Given the description of an element on the screen output the (x, y) to click on. 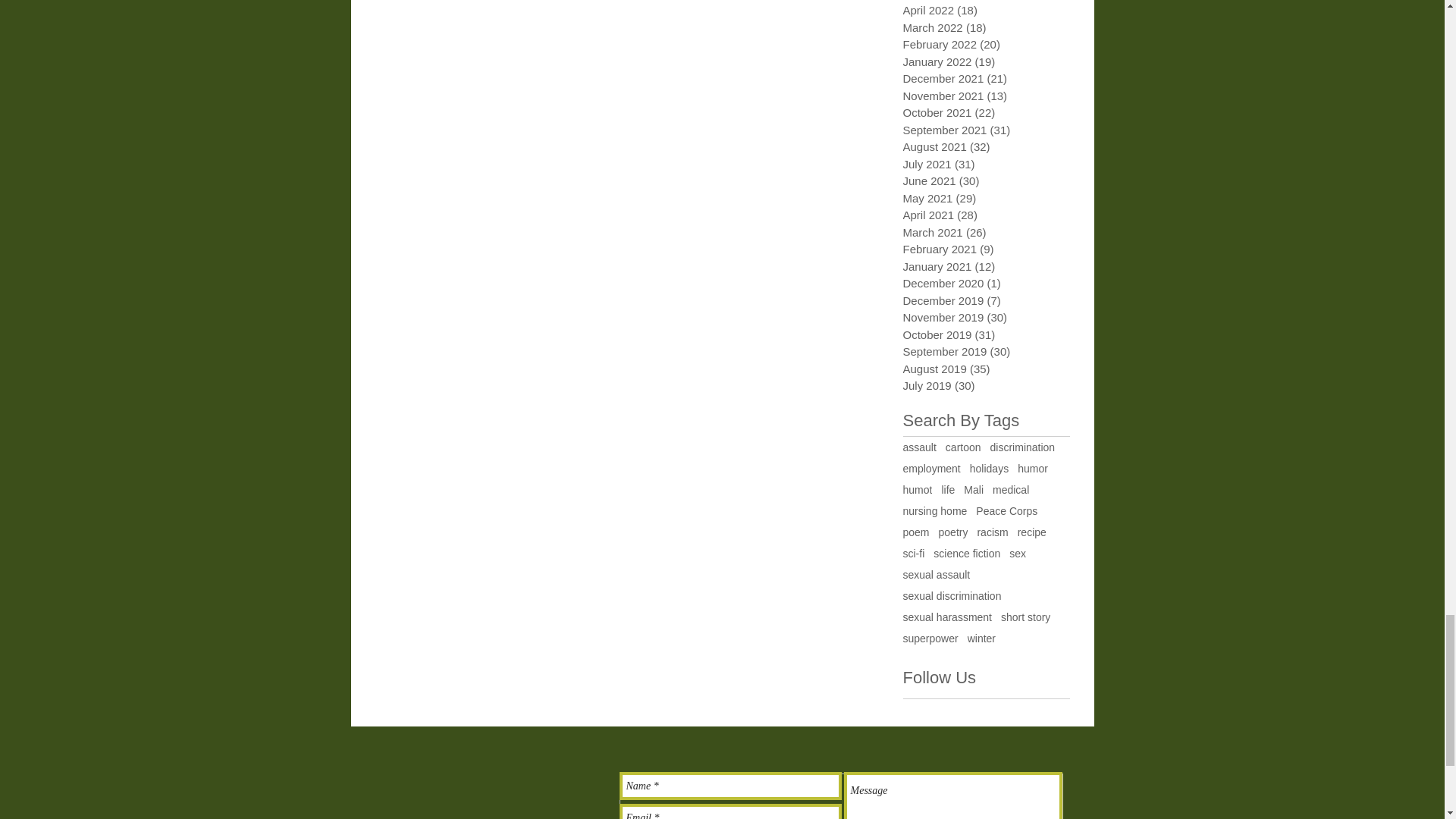
white box to cover old contact text.jpg (840, 796)
